Given the description of an element on the screen output the (x, y) to click on. 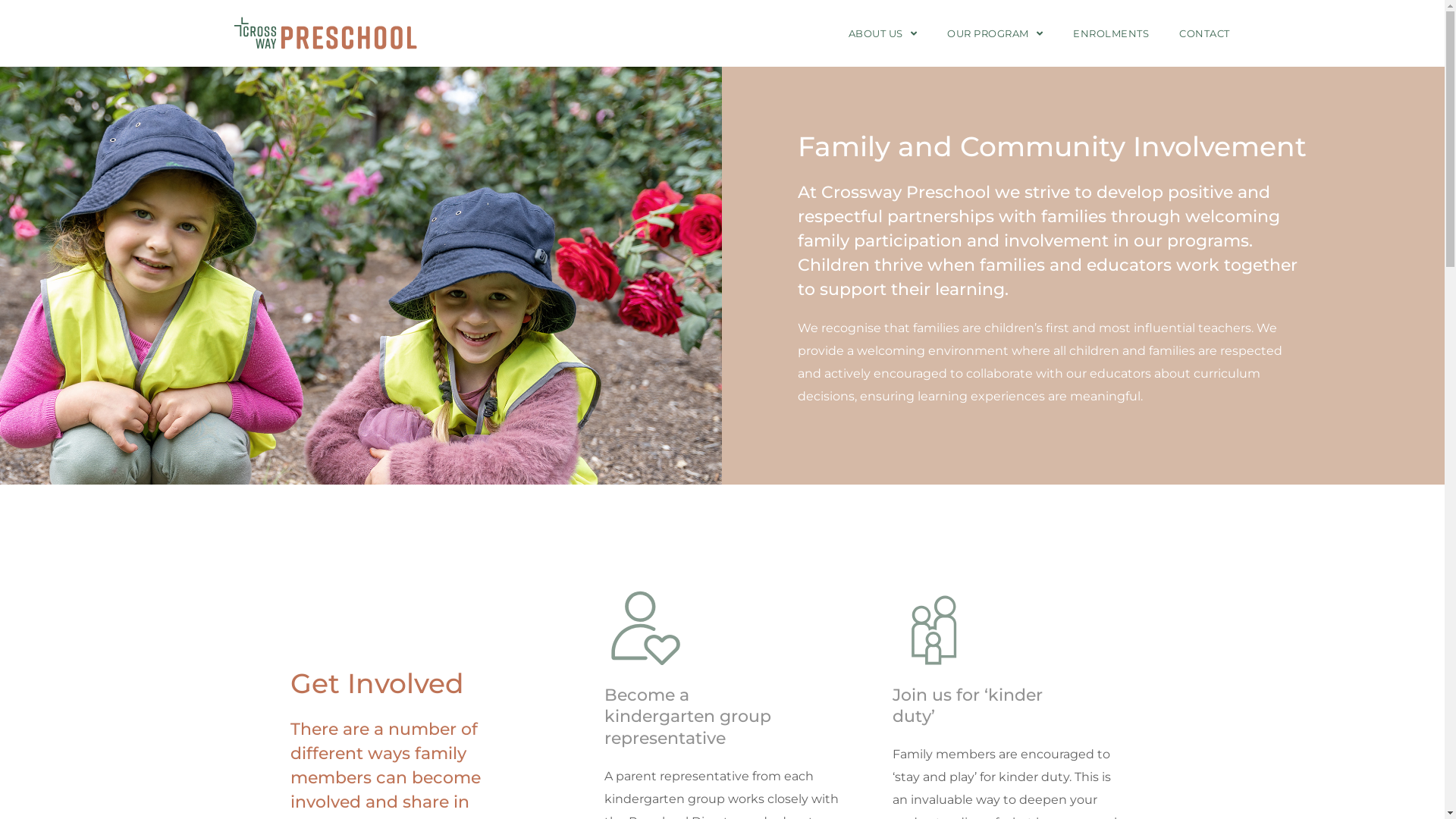
ENROLMENTS Element type: text (1110, 32)
ABOUT US Element type: text (882, 32)
OUR PROGRAM Element type: text (994, 32)
CONTACT Element type: text (1204, 32)
